Given the description of an element on the screen output the (x, y) to click on. 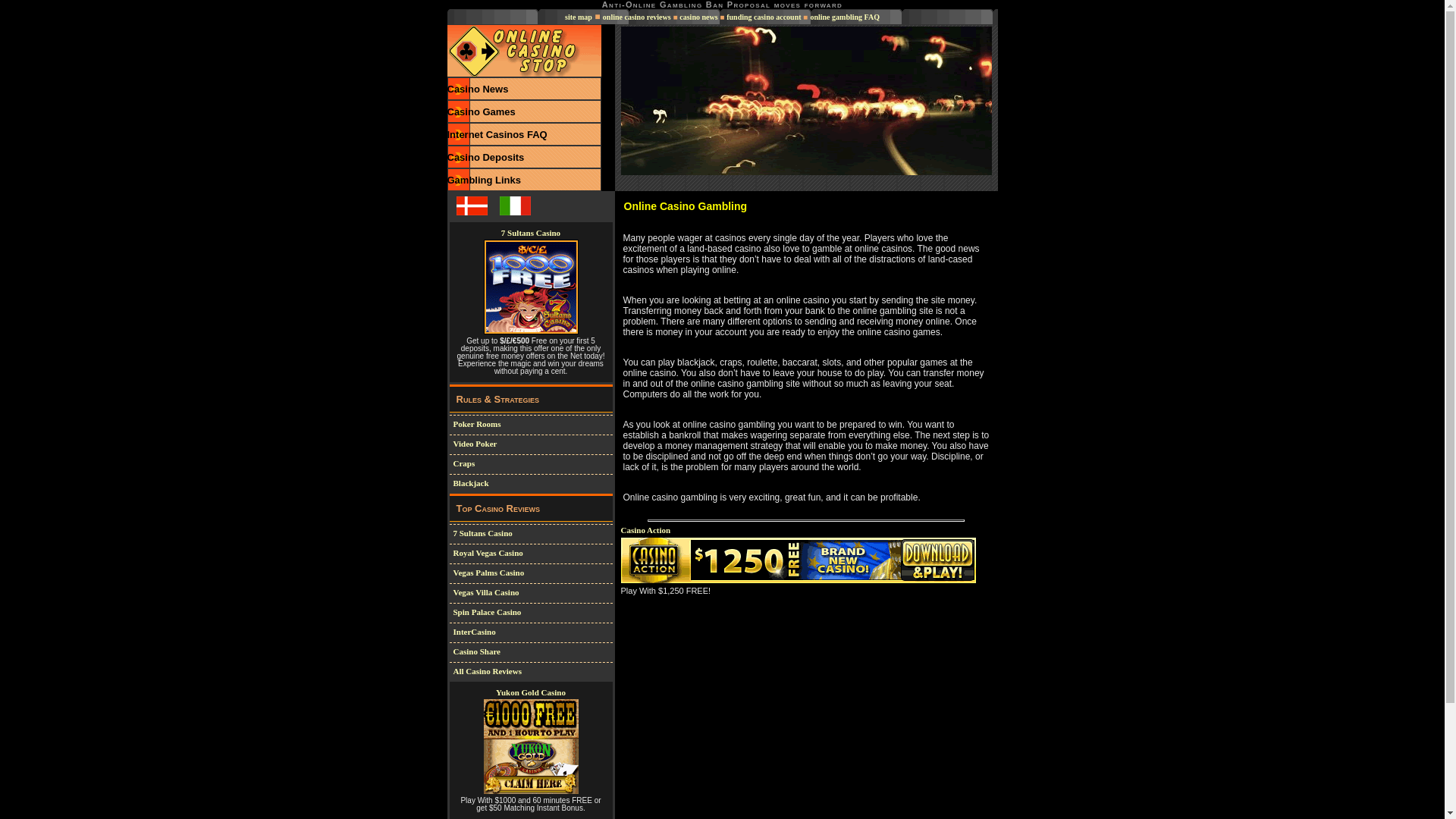
Spin Palace Casino (486, 611)
InterCasino (474, 631)
frequently Asked Questions about Online Casino (496, 134)
Casino News (477, 89)
Poker Rooms (476, 423)
Online Poker (476, 423)
Casino Share (476, 651)
Internet Casinos FAQ (496, 134)
Online Casino Stop Site Map (578, 16)
casino news (698, 16)
online gambling FAQ (844, 16)
All Casino Reviews (486, 670)
Online Casino News and Articles (477, 89)
7 Sultans Casino (482, 532)
Casino Games (480, 111)
